Given the description of an element on the screen output the (x, y) to click on. 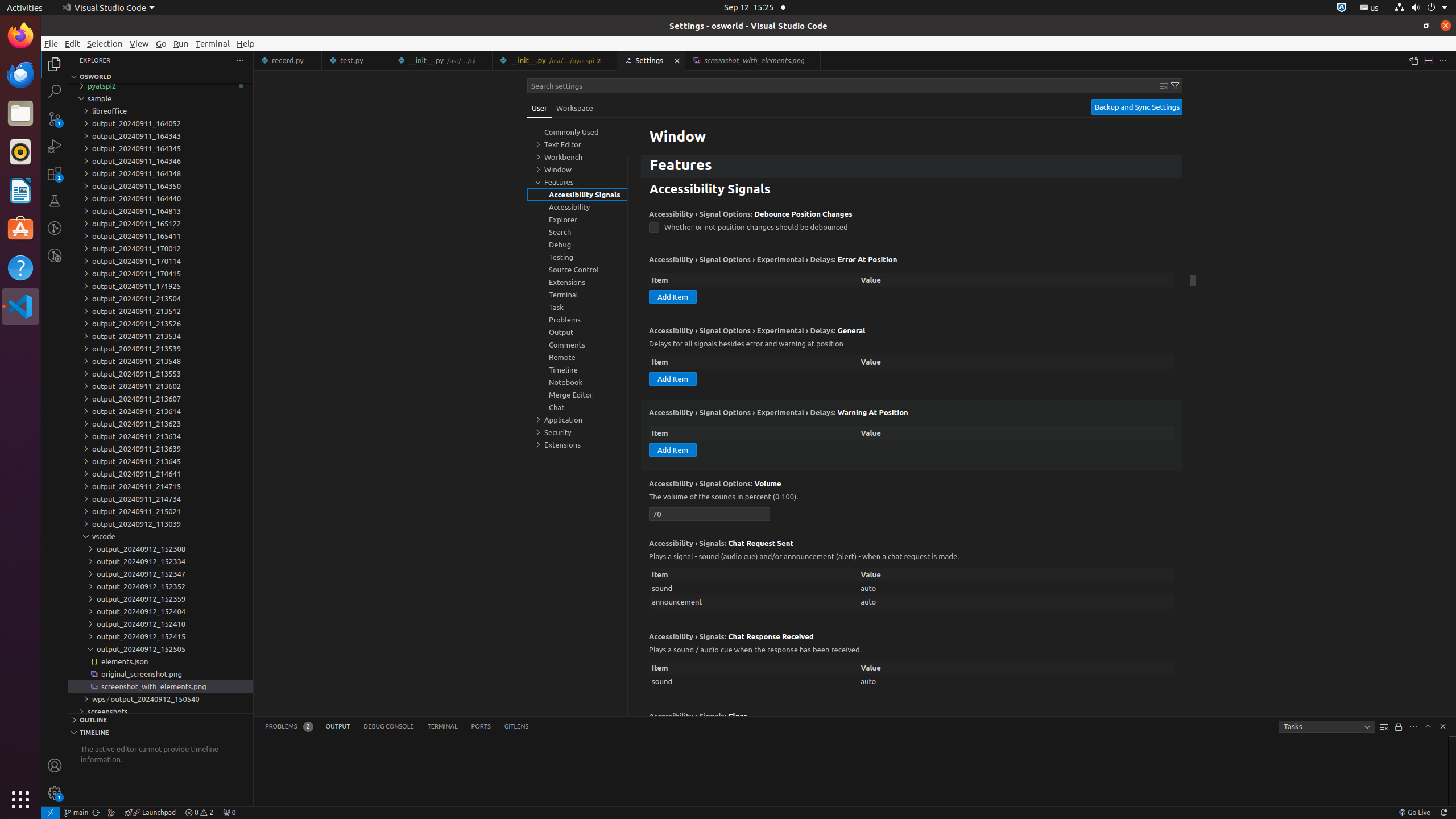
Accessibility Signals Element type: tree-item (911, 189)
Application, group Element type: tree-item (577, 419)
More Actions... Element type: push-button (1442, 60)
Testing, group Element type: tree-item (577, 256)
